Given the description of an element on the screen output the (x, y) to click on. 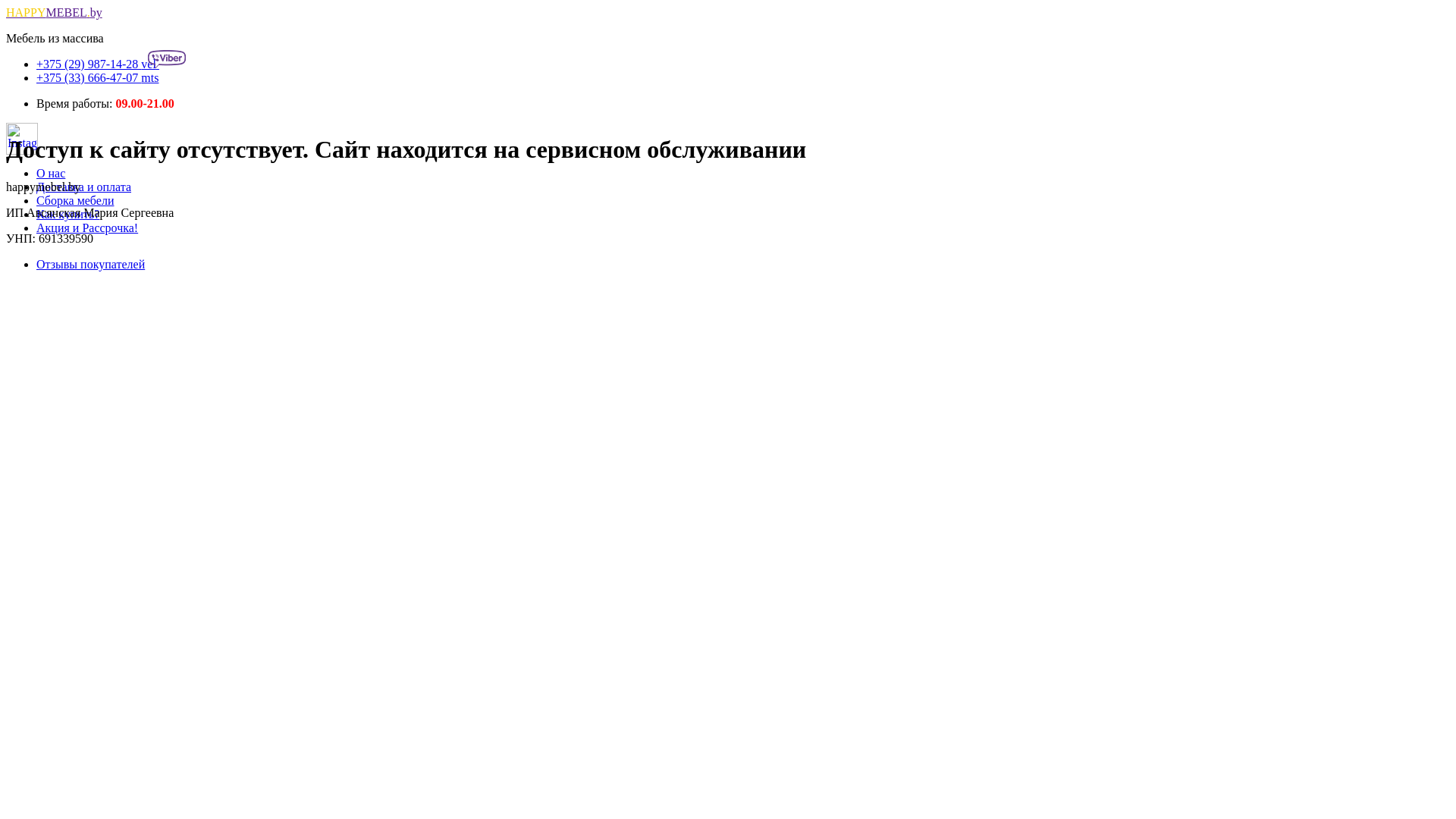
HAPPYMEBEL.by Element type: text (54, 12)
+375 (29) 987-14-28 vel Element type: text (110, 63)
+375 (33) 666-47-07 mts Element type: text (97, 77)
